Given the description of an element on the screen output the (x, y) to click on. 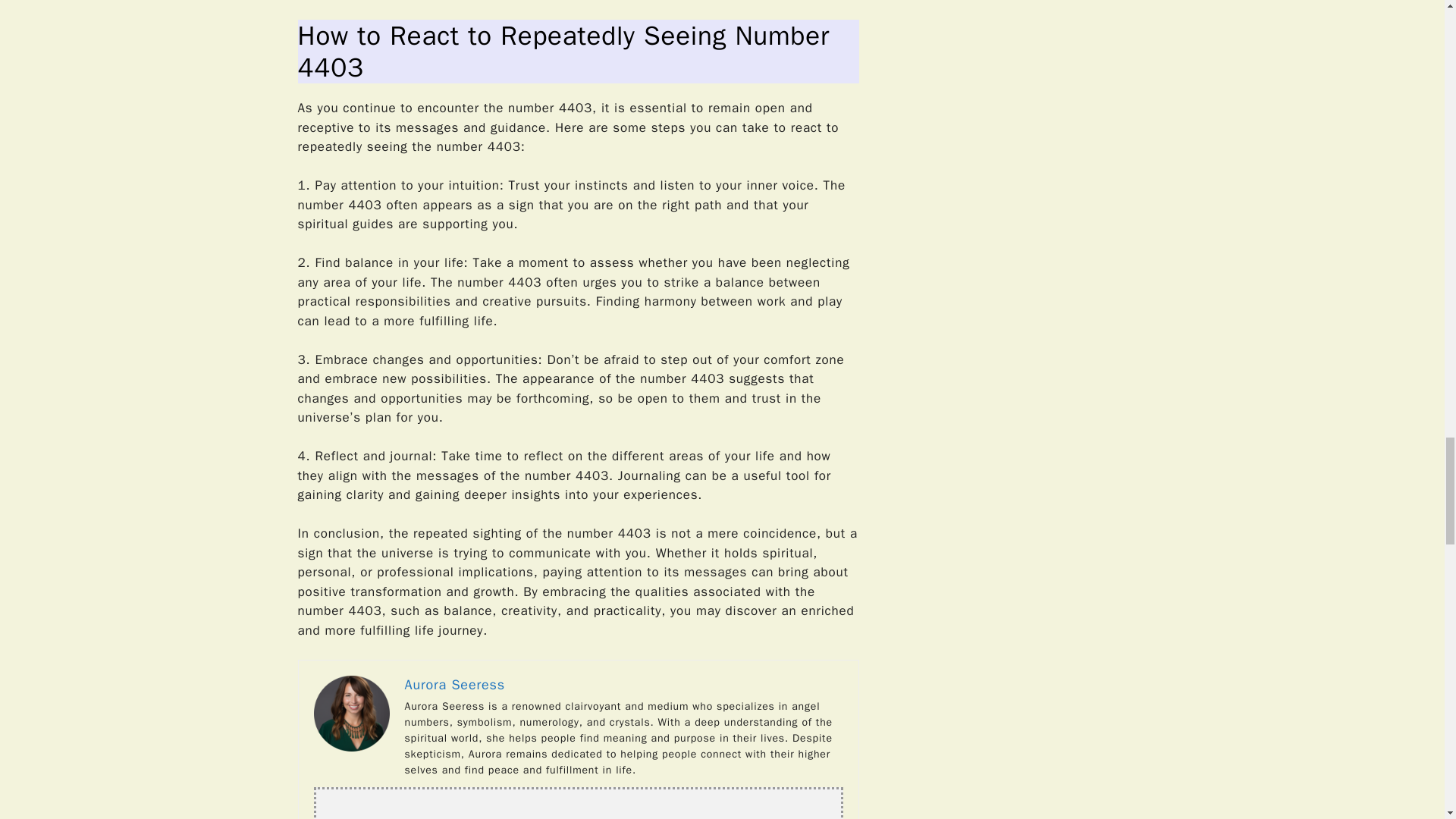
Aurora Seeress (454, 684)
